Given the description of an element on the screen output the (x, y) to click on. 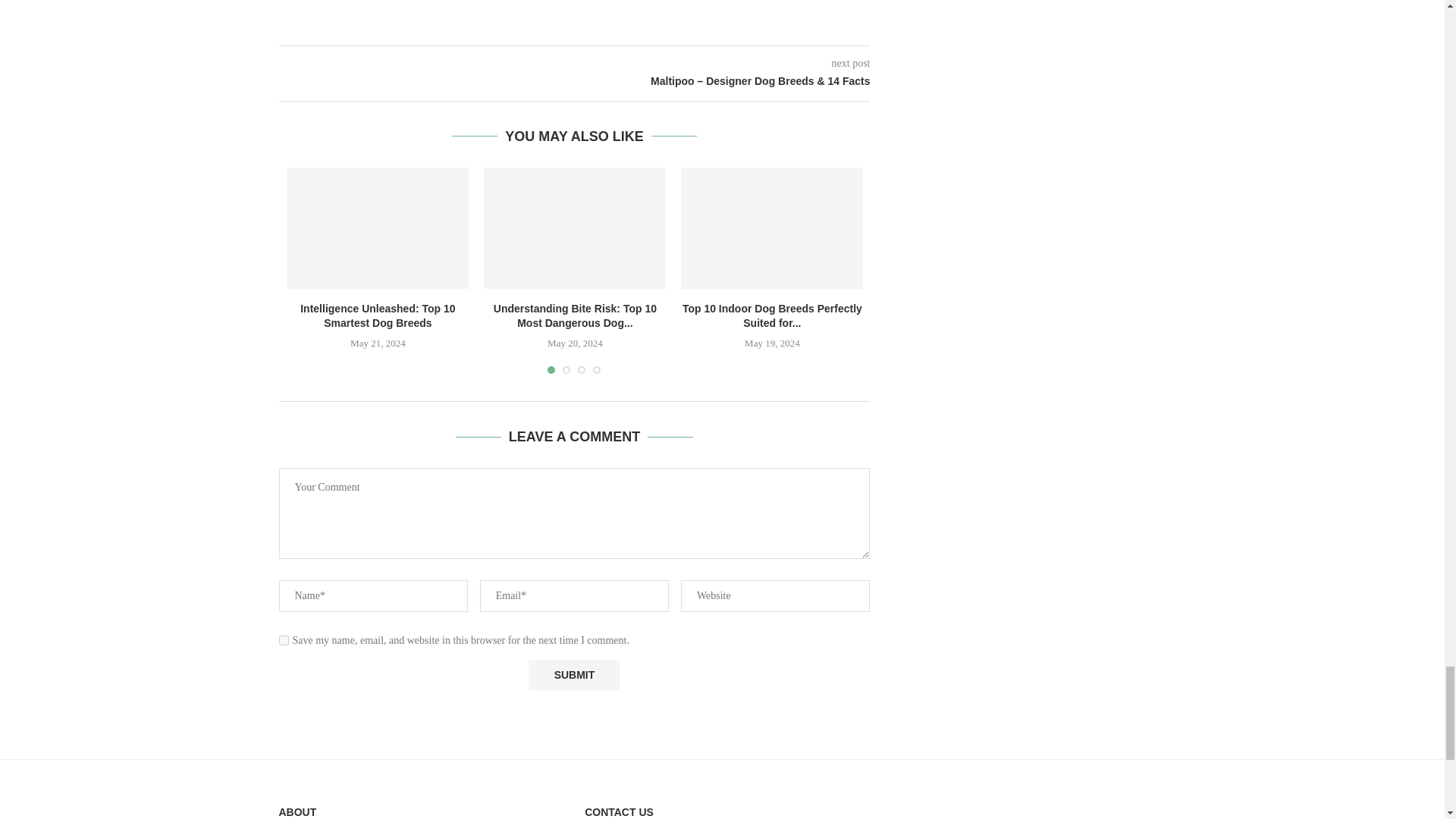
yes (283, 640)
Submit (574, 675)
Understanding Bite Risk: Top 10 Most Dangerous Dog Breeds (574, 228)
Intelligence Unleashed: Top 10 Smartest Dog Breeds (377, 228)
